Given the description of an element on the screen output the (x, y) to click on. 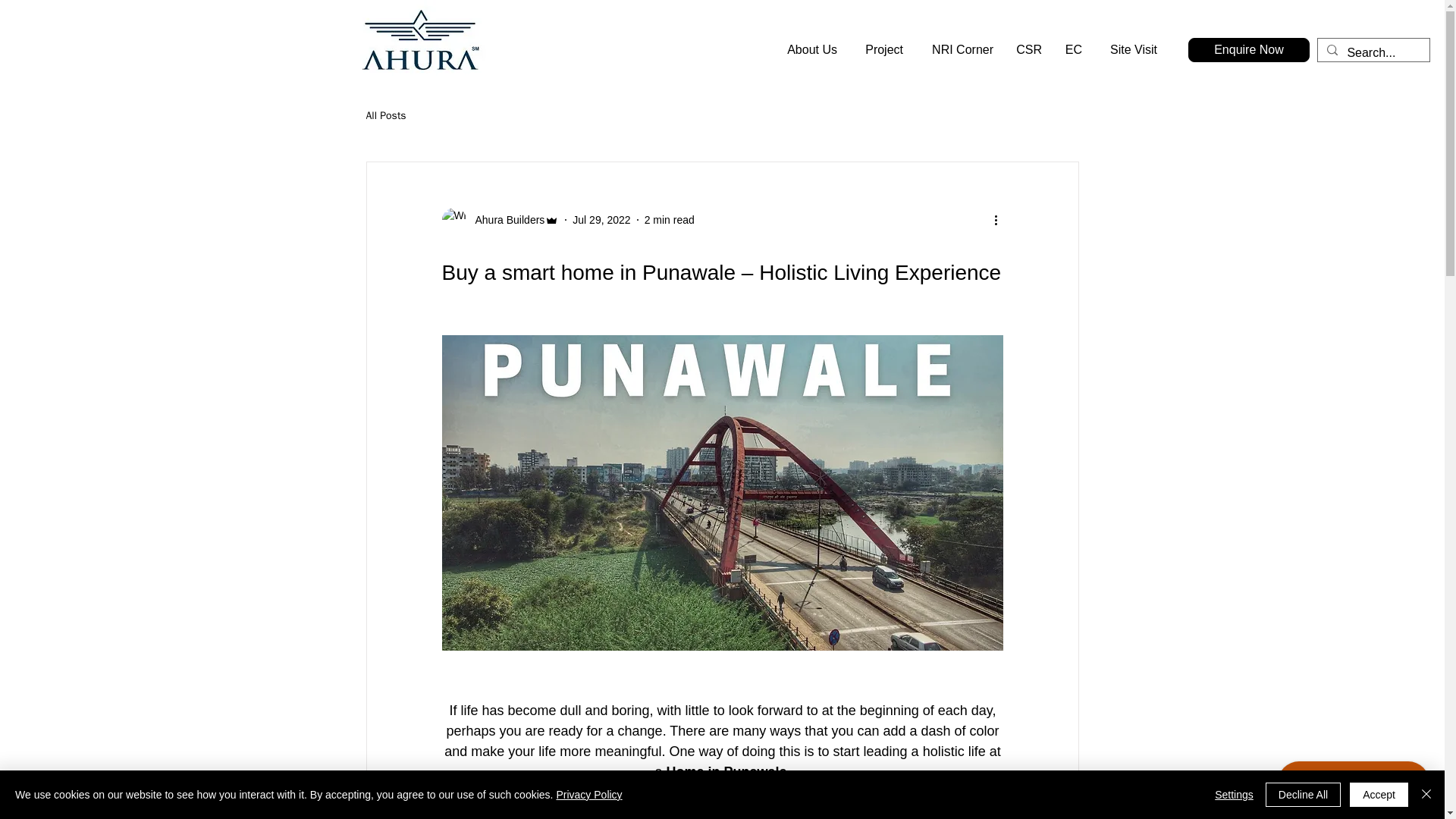
Accept (1378, 794)
Ahura Builders (504, 220)
Privacy Policy (588, 794)
Enquire Now (1248, 49)
Project (881, 49)
NRI Corner (959, 49)
EC (1072, 49)
CSR (1028, 49)
About Us (808, 49)
Jul 29, 2022 (601, 219)
Ahura Builders (500, 219)
All Posts (385, 115)
Site Visit (1131, 49)
Decline All (1302, 794)
2 min read (669, 219)
